Given the description of an element on the screen output the (x, y) to click on. 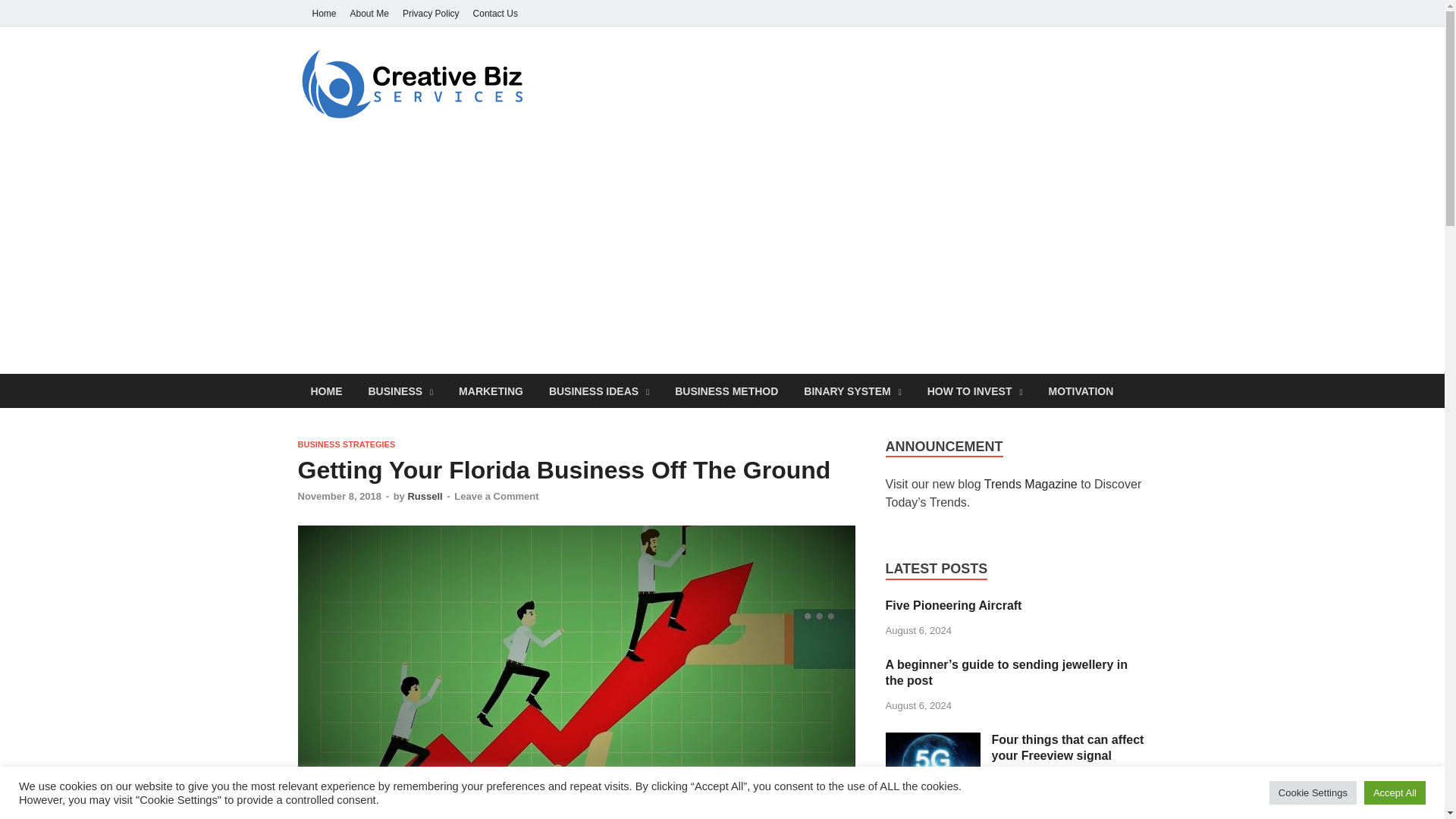
Privacy Policy (430, 13)
Contact Us (494, 13)
MARKETING (490, 390)
BUSINESS METHOD (726, 390)
BUSINESS IDEAS (598, 390)
HOW TO INVEST (974, 390)
BINARY SYSTEM (852, 390)
Home (323, 13)
HOME (326, 390)
